Given the description of an element on the screen output the (x, y) to click on. 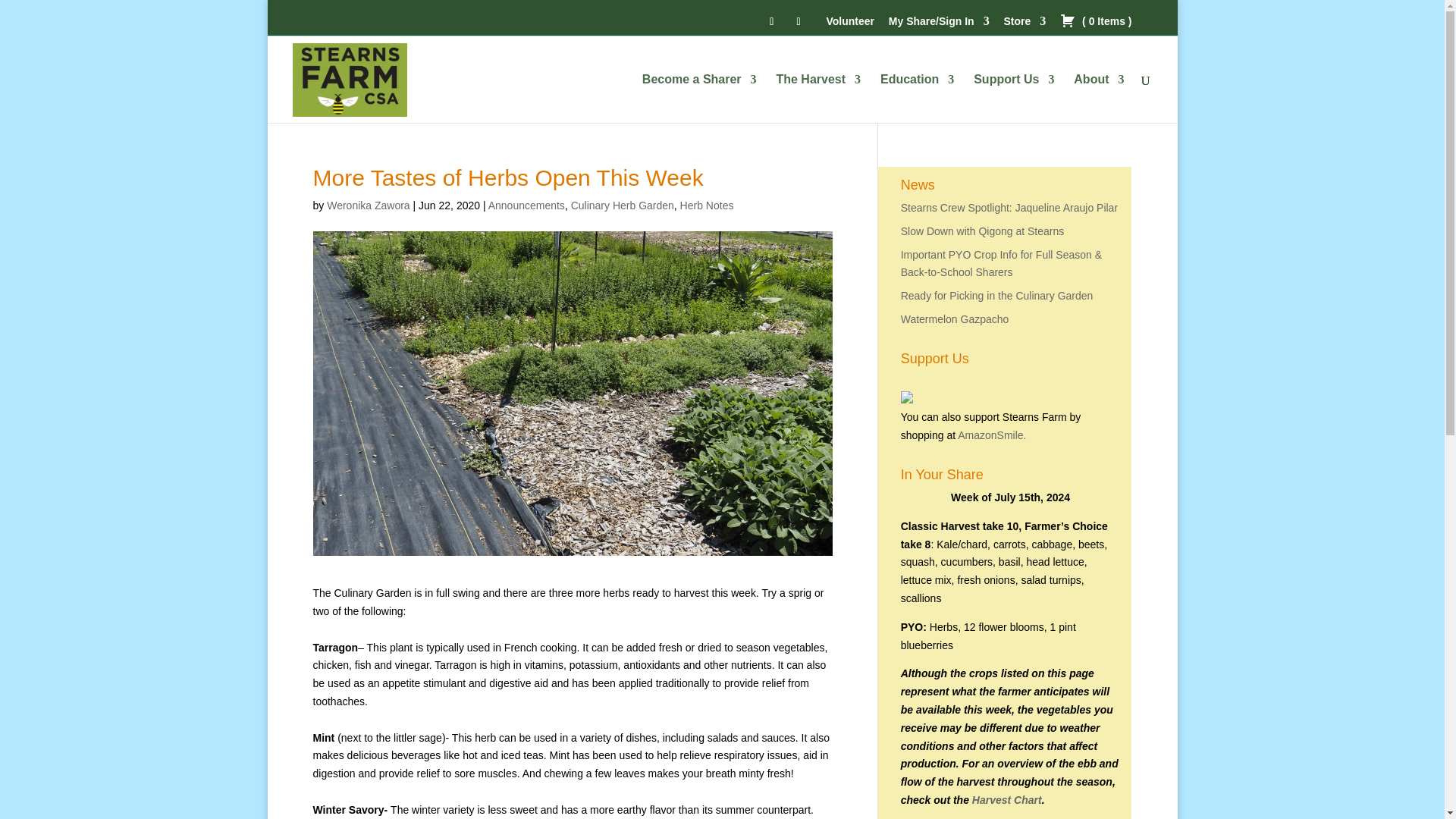
Store (1025, 25)
Become a Sharer (699, 98)
The Harvest (818, 98)
Volunteer (850, 25)
Education (916, 98)
Posts by Weronika Zawora (367, 205)
